Given the description of an element on the screen output the (x, y) to click on. 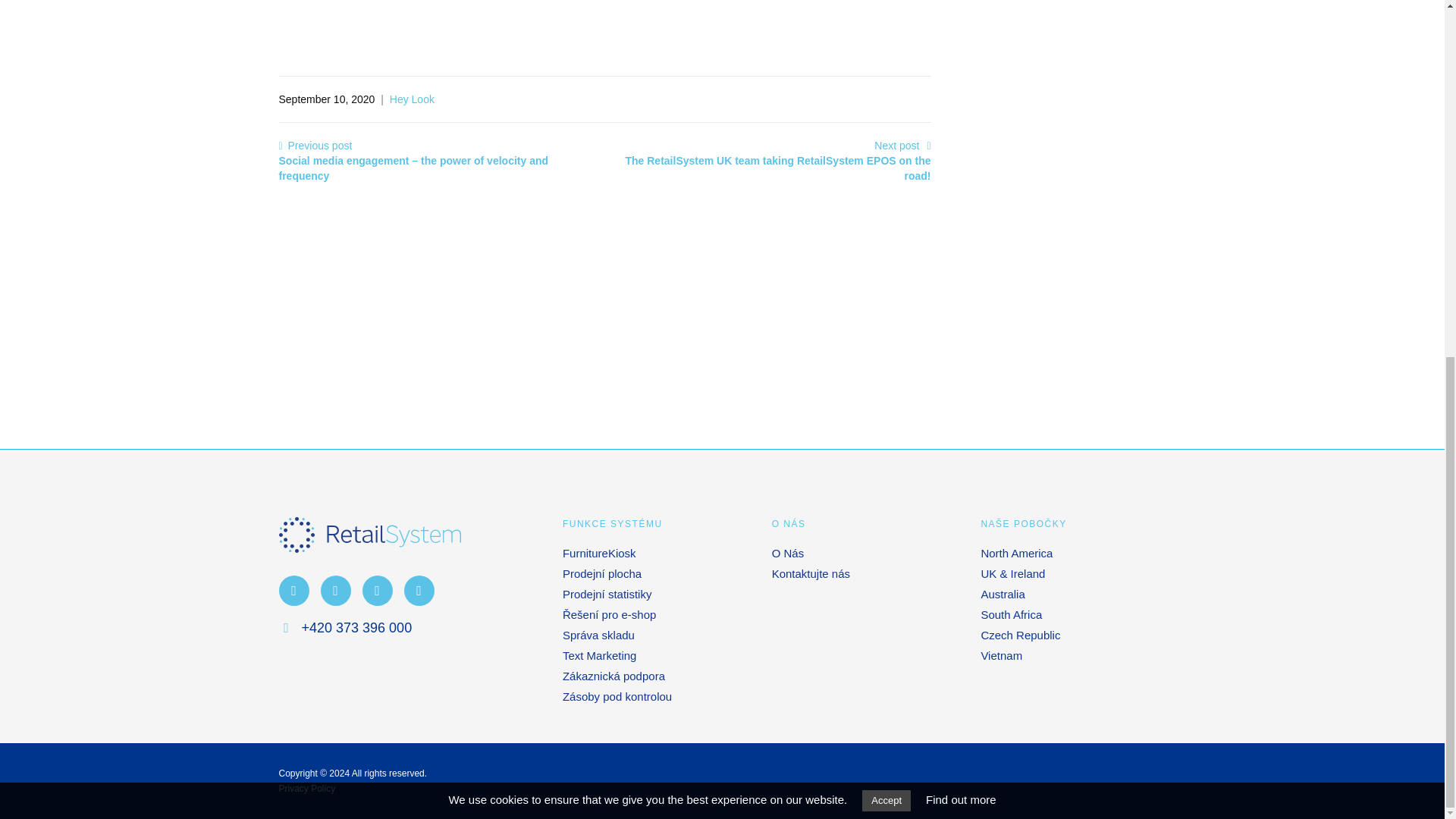
Hey Look - I'm Doing Ecommerce - Customer Acquisition Cost (711, 24)
RetailSystem Czech Republic (370, 534)
Hey Look (411, 99)
